Given the description of an element on the screen output the (x, y) to click on. 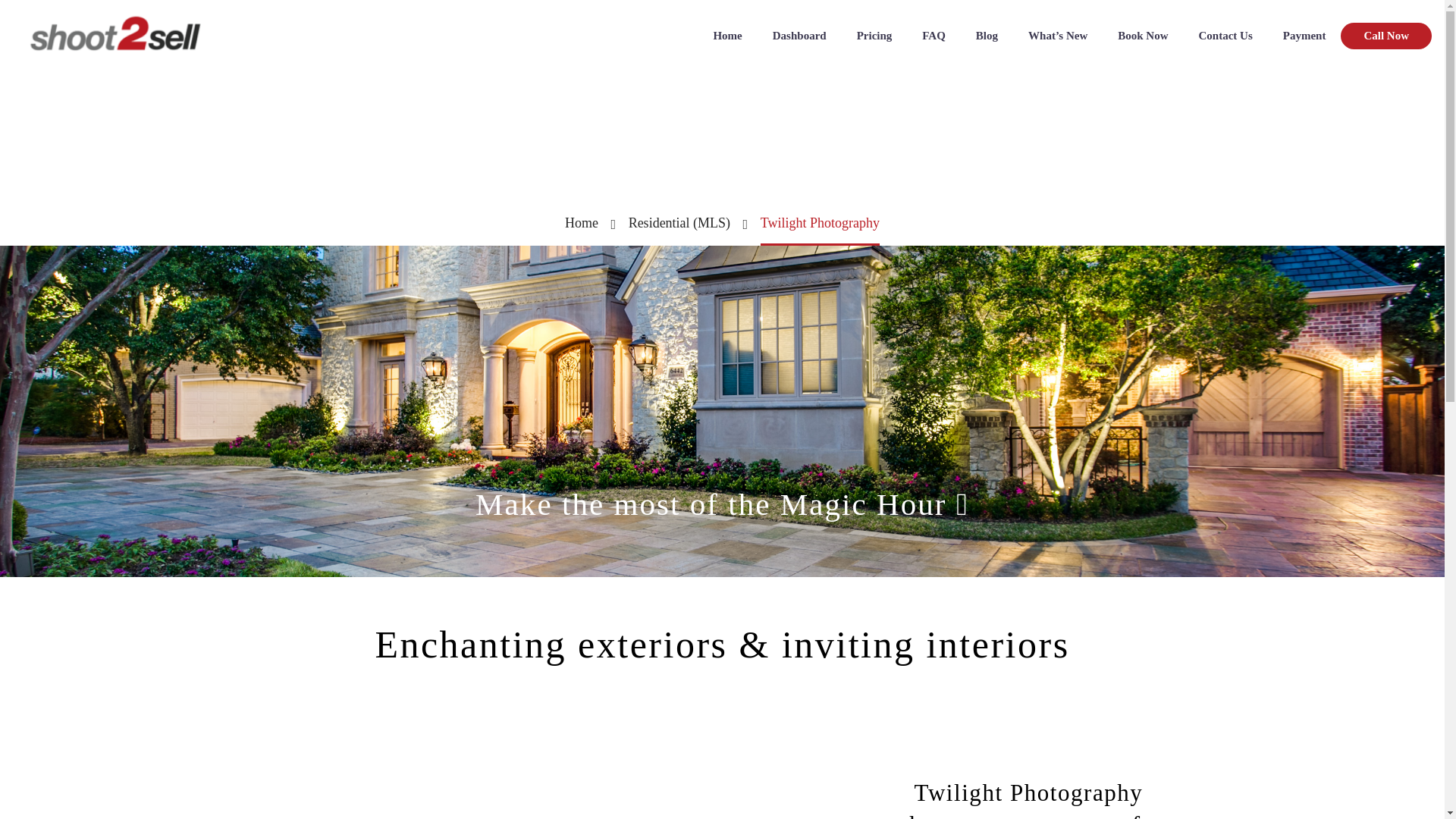
Dashboard (799, 36)
Book Now (1142, 36)
Pricing (874, 36)
Payment (1304, 36)
Contact Us (1224, 36)
Home (581, 222)
Call Now (1385, 35)
